Given the description of an element on the screen output the (x, y) to click on. 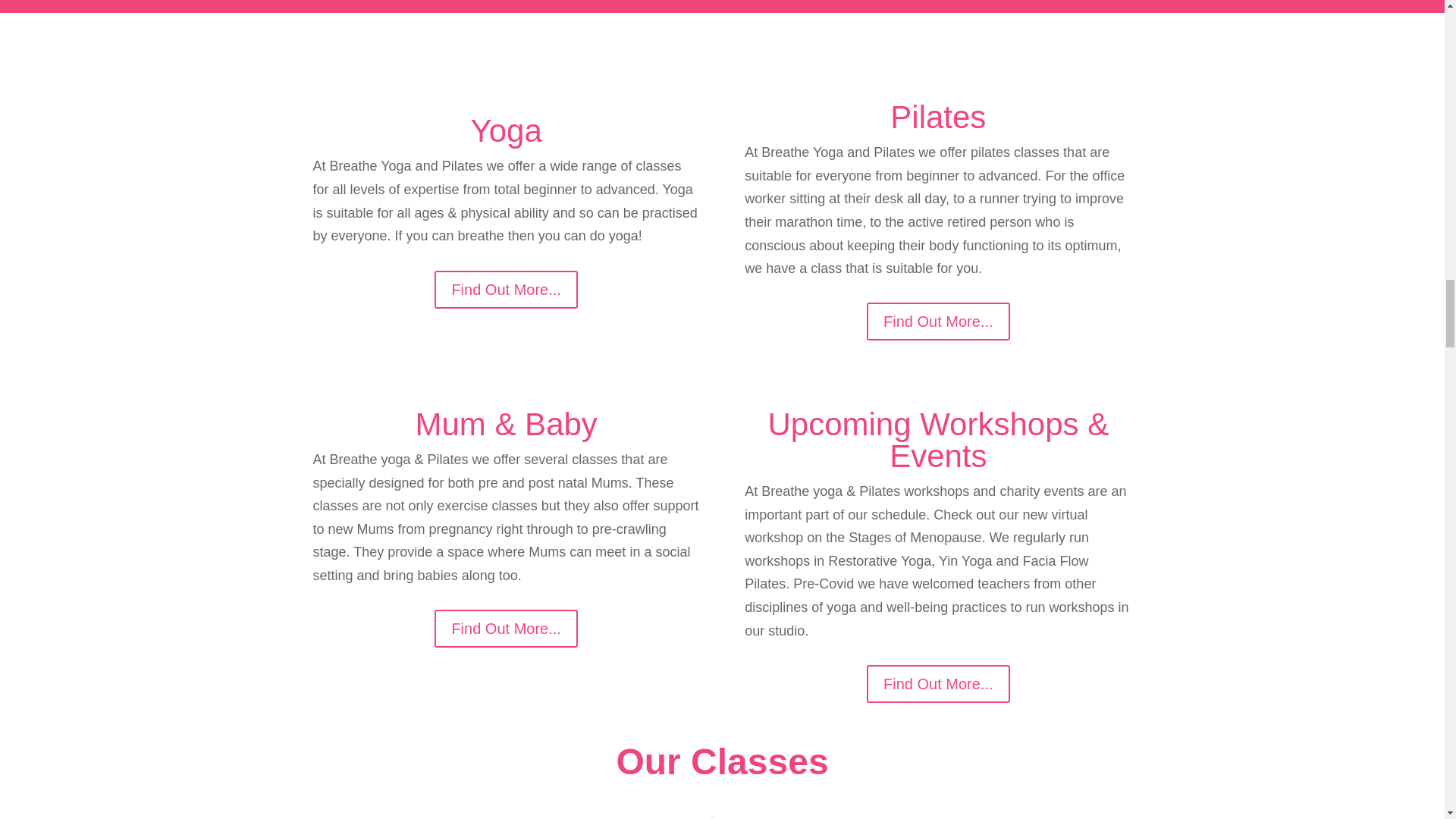
Find Out More... (938, 321)
Find Out More... (505, 628)
Find Out More... (505, 288)
Find Out More... (938, 683)
